Given the description of an element on the screen output the (x, y) to click on. 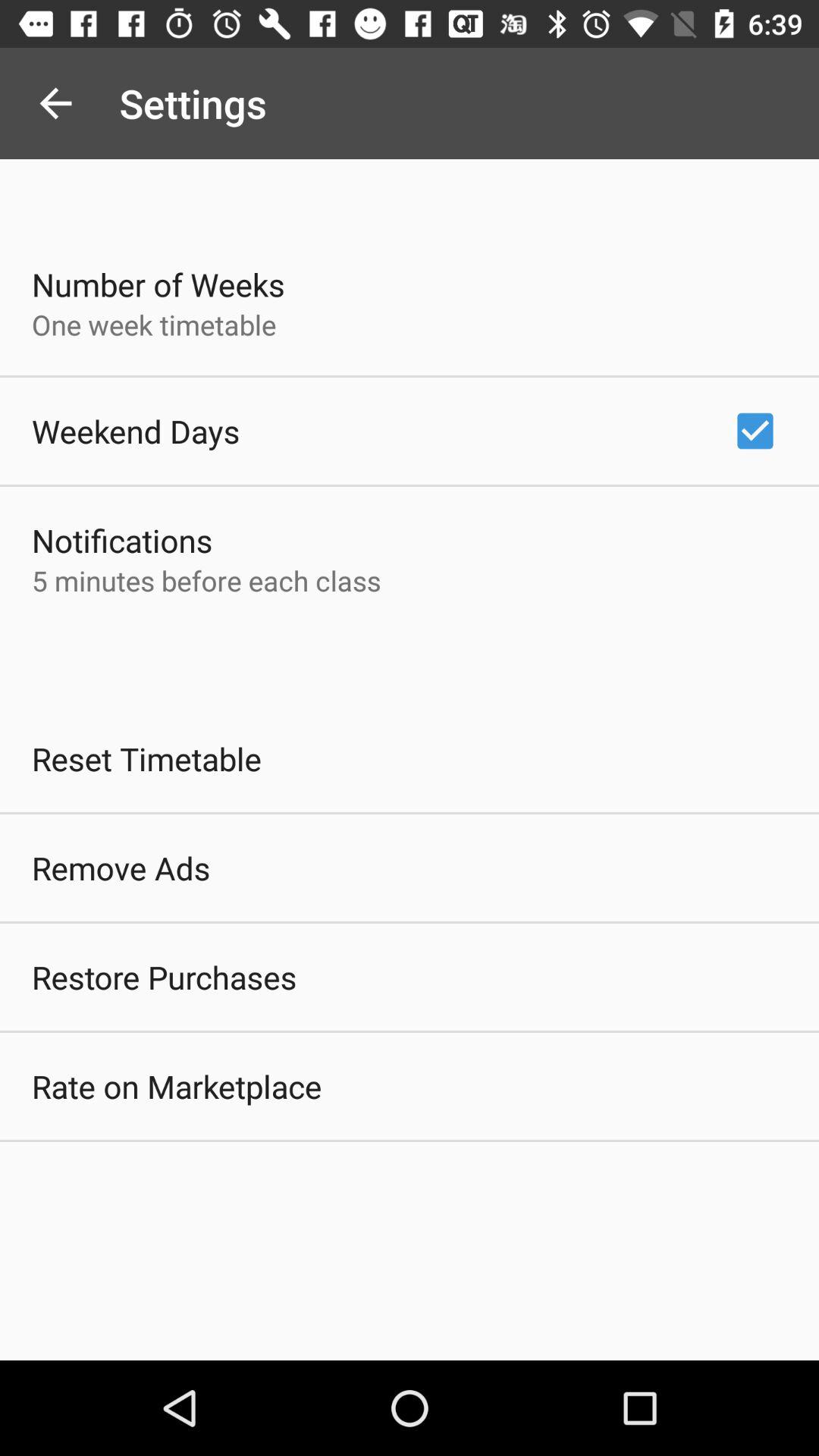
launch app above weekend days (153, 324)
